Given the description of an element on the screen output the (x, y) to click on. 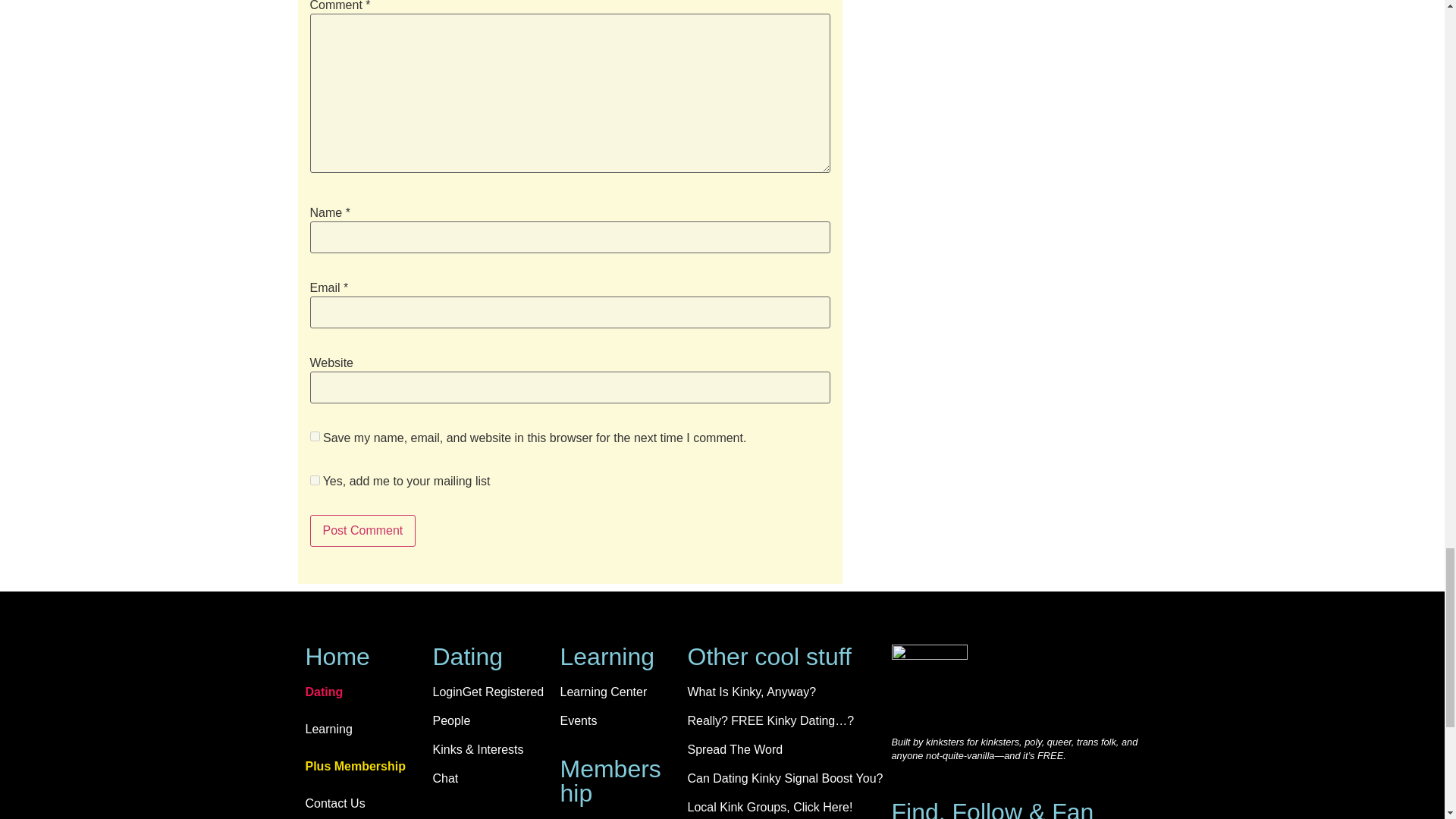
1 (313, 480)
Post Comment (361, 531)
yes (313, 436)
Post Comment (361, 531)
